Given the description of an element on the screen output the (x, y) to click on. 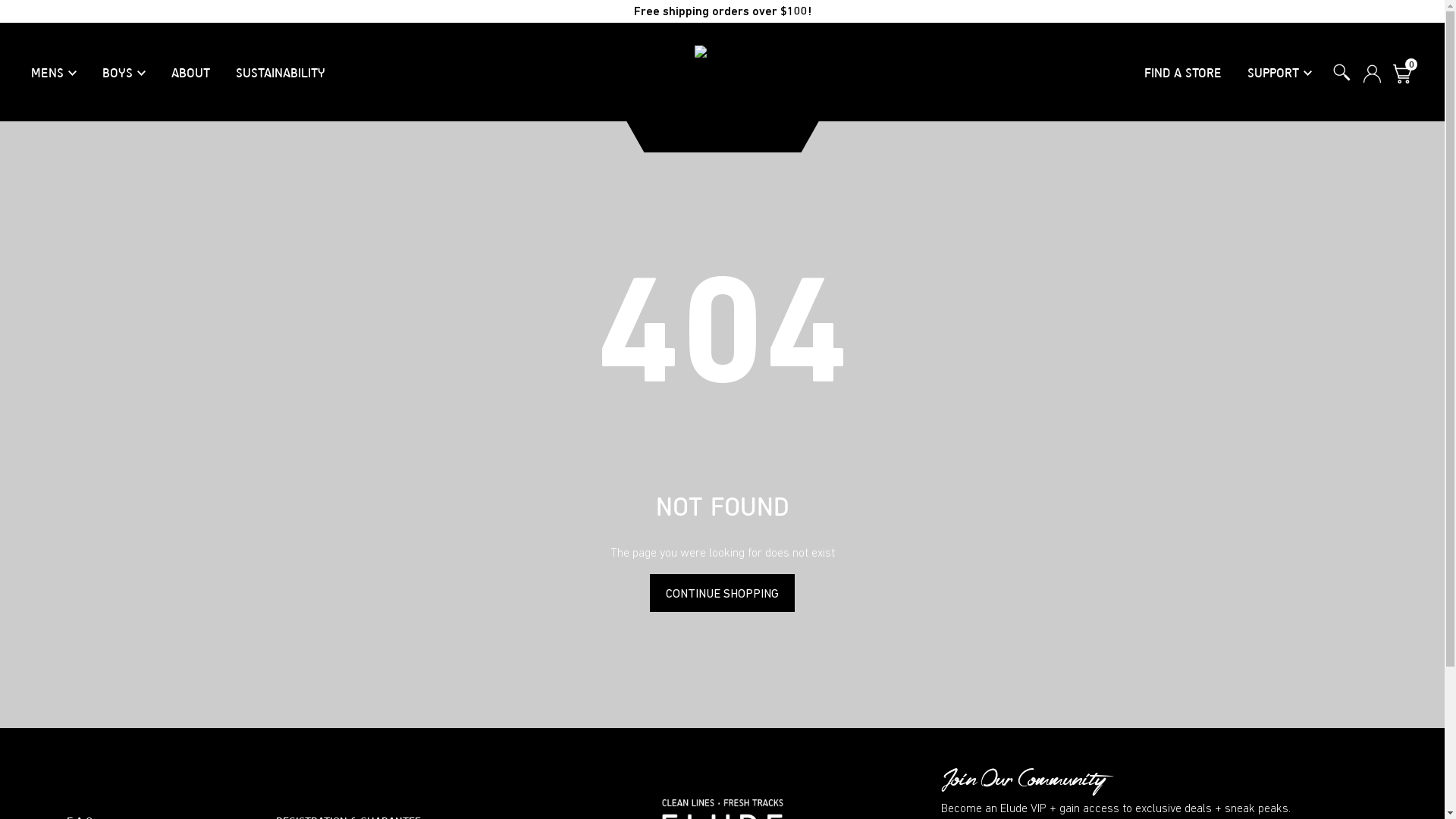
0 Element type: text (1402, 73)
SUPPORT Element type: text (1279, 73)
ABOUT Element type: text (190, 73)
FIND A STORE Element type: text (1182, 73)
CONTINUE SHOPPING Element type: text (721, 592)
BOYS Element type: text (123, 73)
SUSTAINABILITY Element type: text (280, 73)
MENS Element type: text (53, 73)
